Given the description of an element on the screen output the (x, y) to click on. 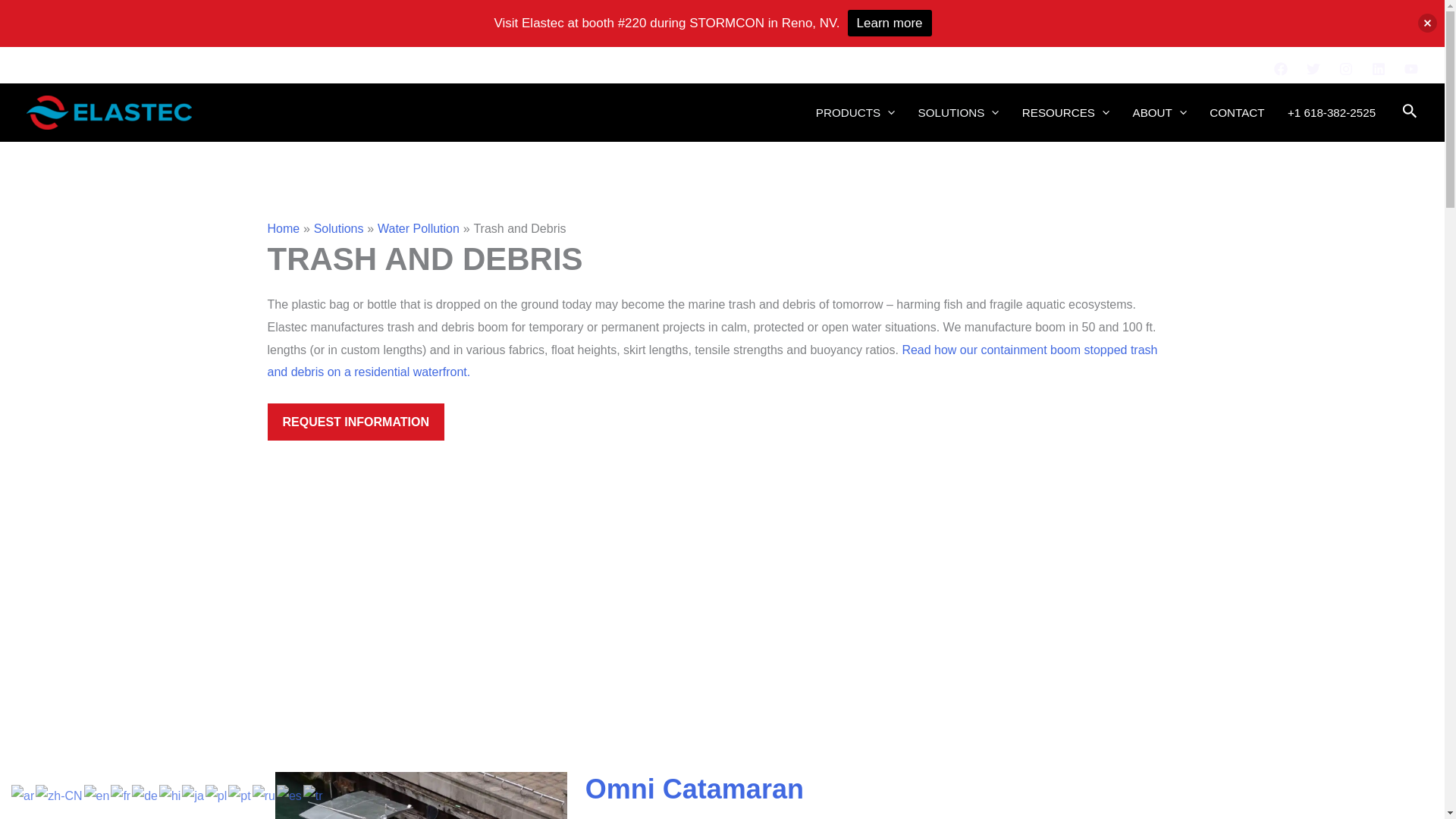
gallery-permafence-containment-boom-in-creek (608, 622)
SHOP (966, 68)
Polski (216, 794)
CATALOG (1018, 68)
gallery-netboom-stinging-nettles-2 (835, 622)
gallery-omni-cat-10 (1062, 622)
gallery-brute-boom (380, 622)
gallery-brute-boom (380, 587)
Deutsch (145, 794)
gallery-omni-cat-10 (1062, 587)
